Given the description of an element on the screen output the (x, y) to click on. 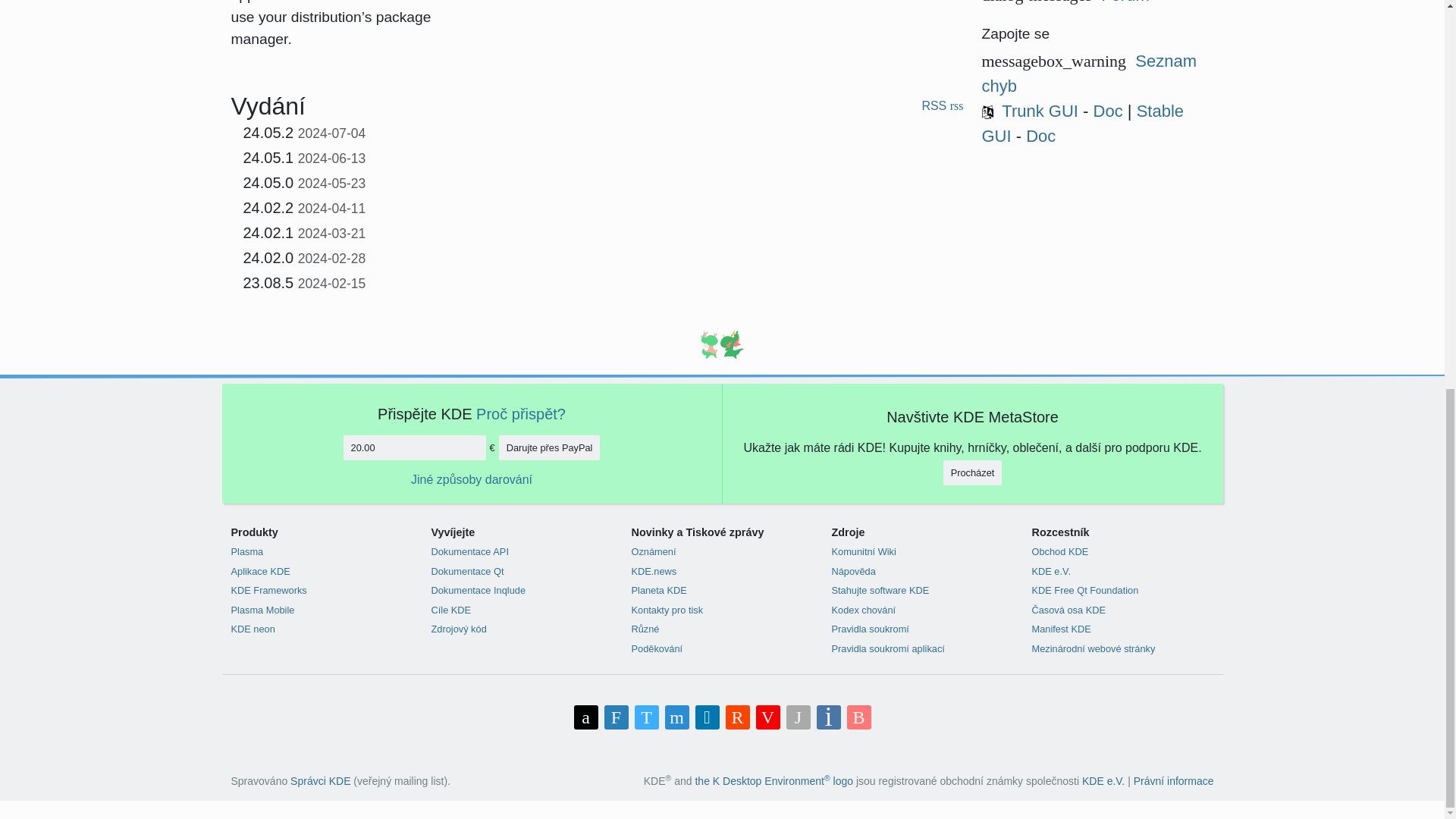
20.00 (414, 447)
